Given the description of an element on the screen output the (x, y) to click on. 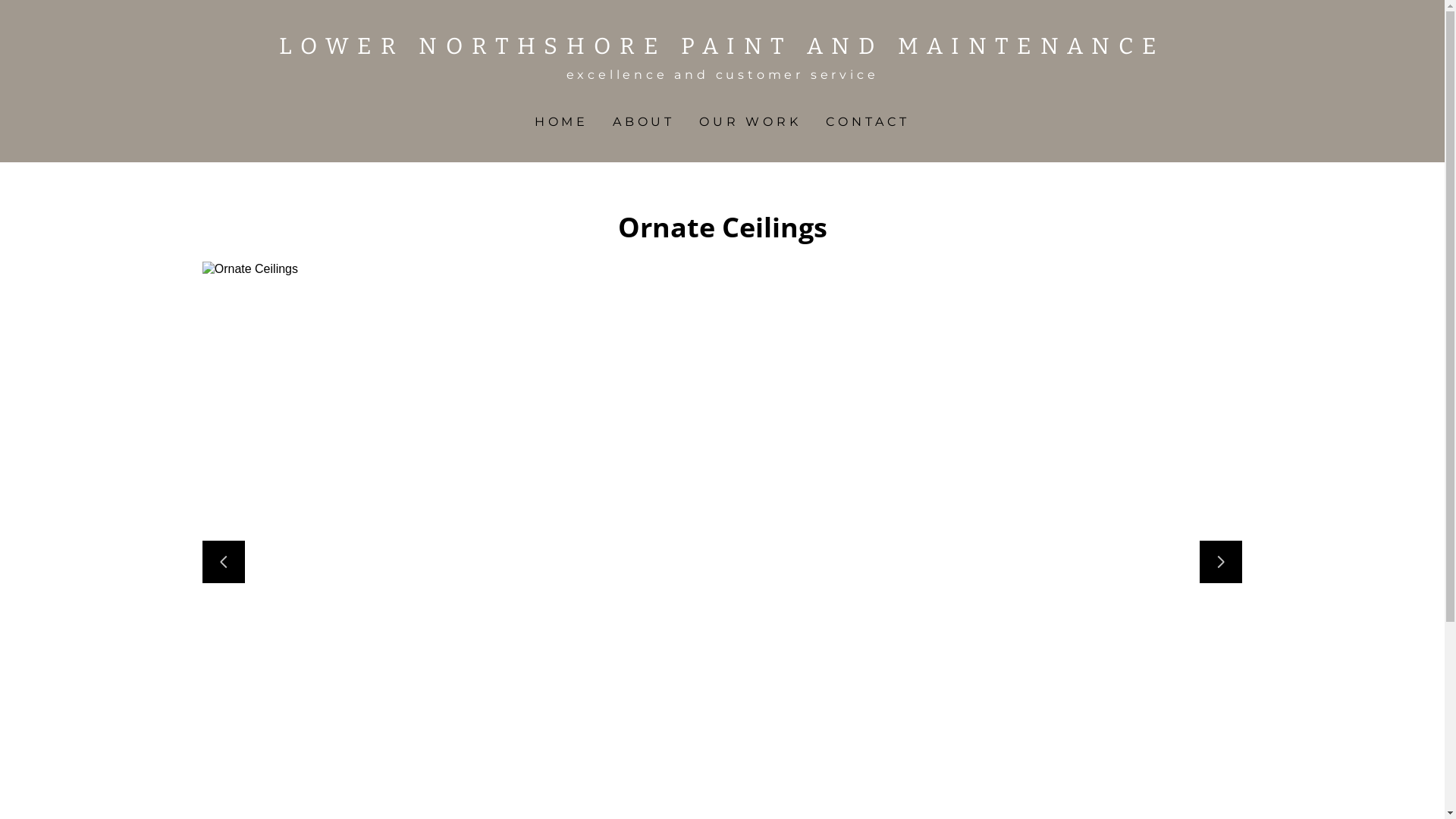
Skip to main content Element type: text (12, 12)
ABOUT Element type: text (643, 121)
HOME Element type: text (561, 121)
CONTACT Element type: text (867, 121)
OUR WORK Element type: text (749, 121)
